Given the description of an element on the screen output the (x, y) to click on. 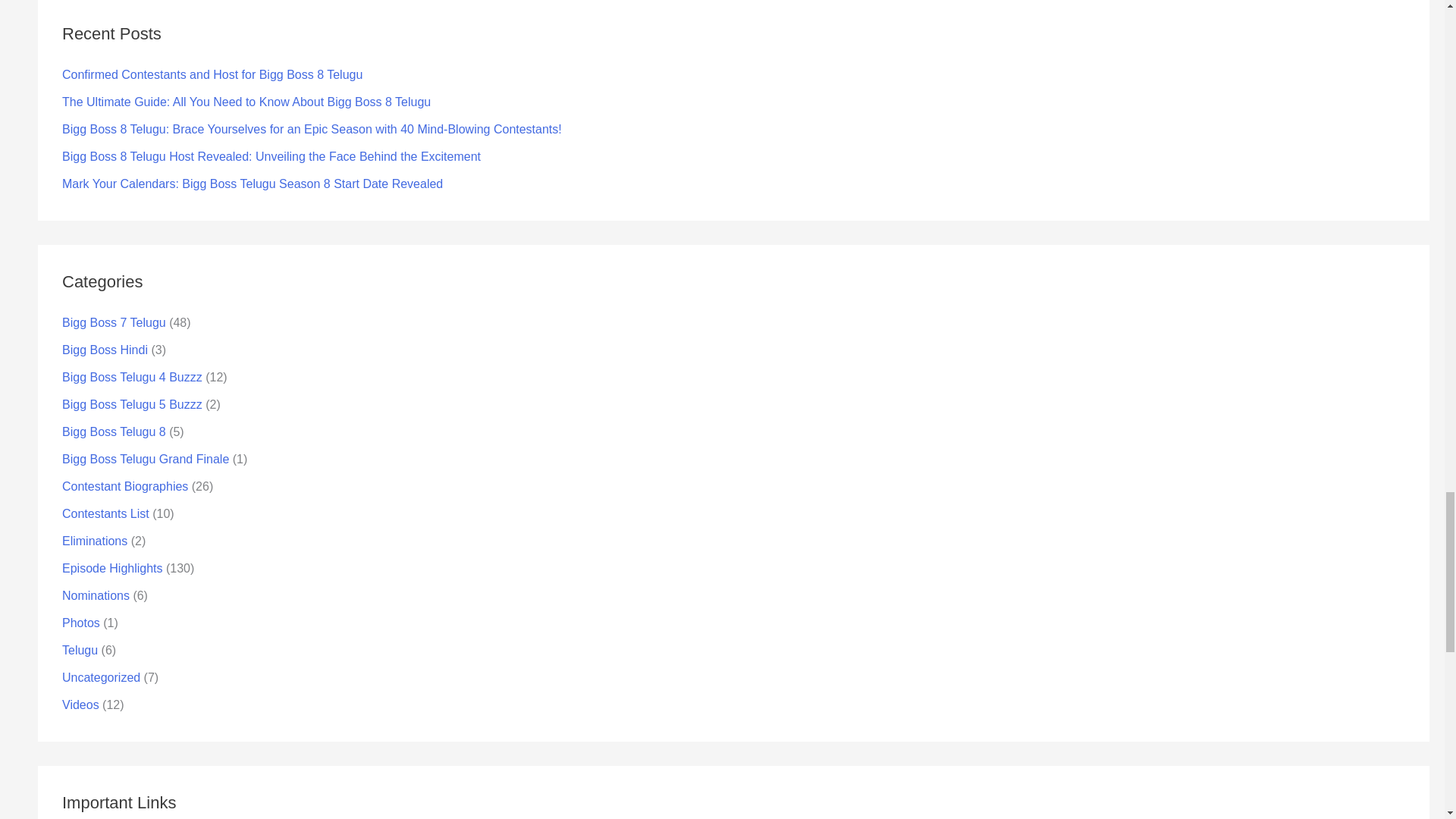
Confirmed Contestants and Host for Bigg Boss 8 Telugu (212, 74)
Bigg Boss Telugu 4 Buzzz (132, 377)
Bigg Boss 7 Telugu (113, 322)
Bigg Boss Hindi (105, 349)
